Given the description of an element on the screen output the (x, y) to click on. 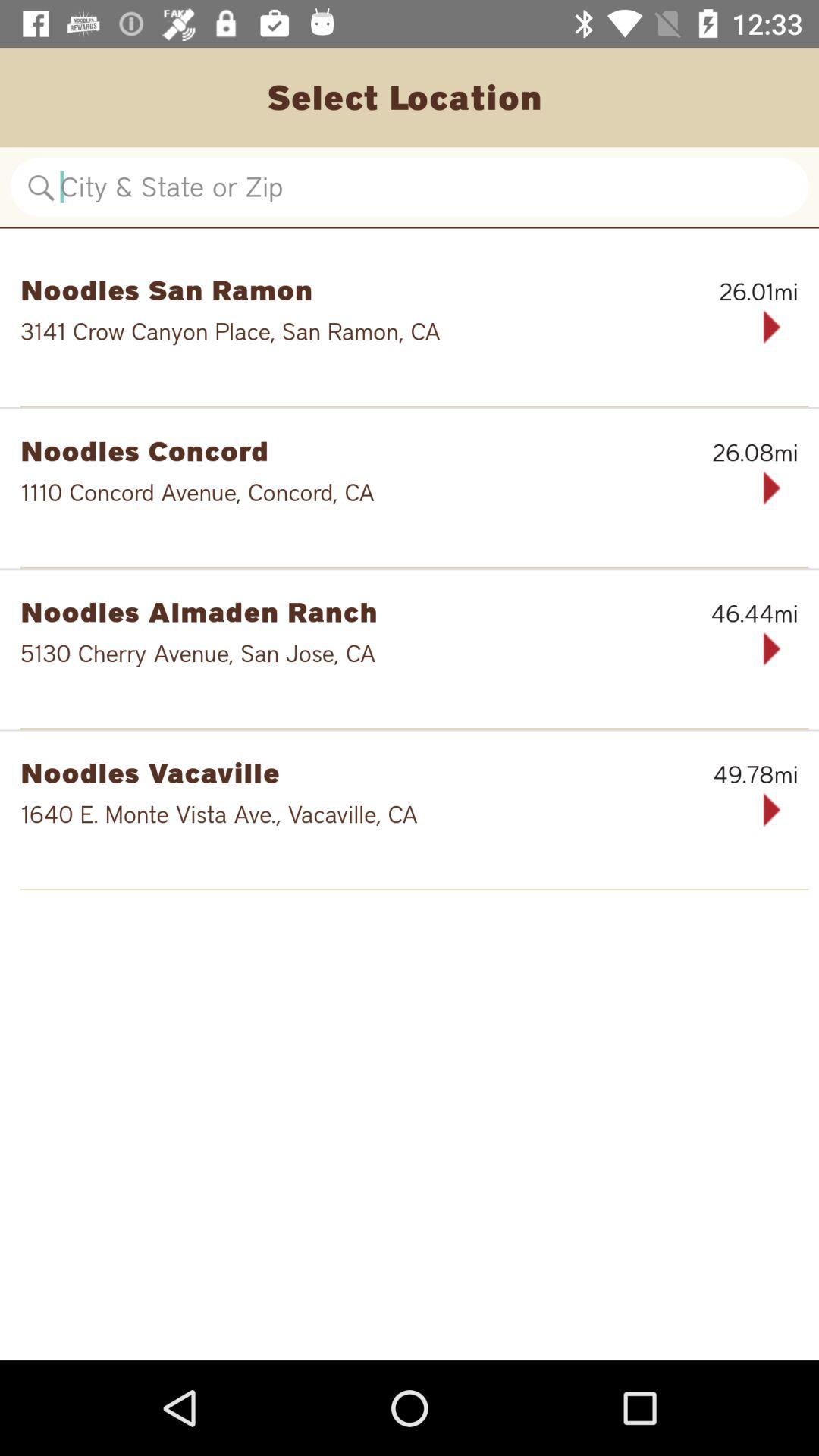
search location (409, 186)
